Given the description of an element on the screen output the (x, y) to click on. 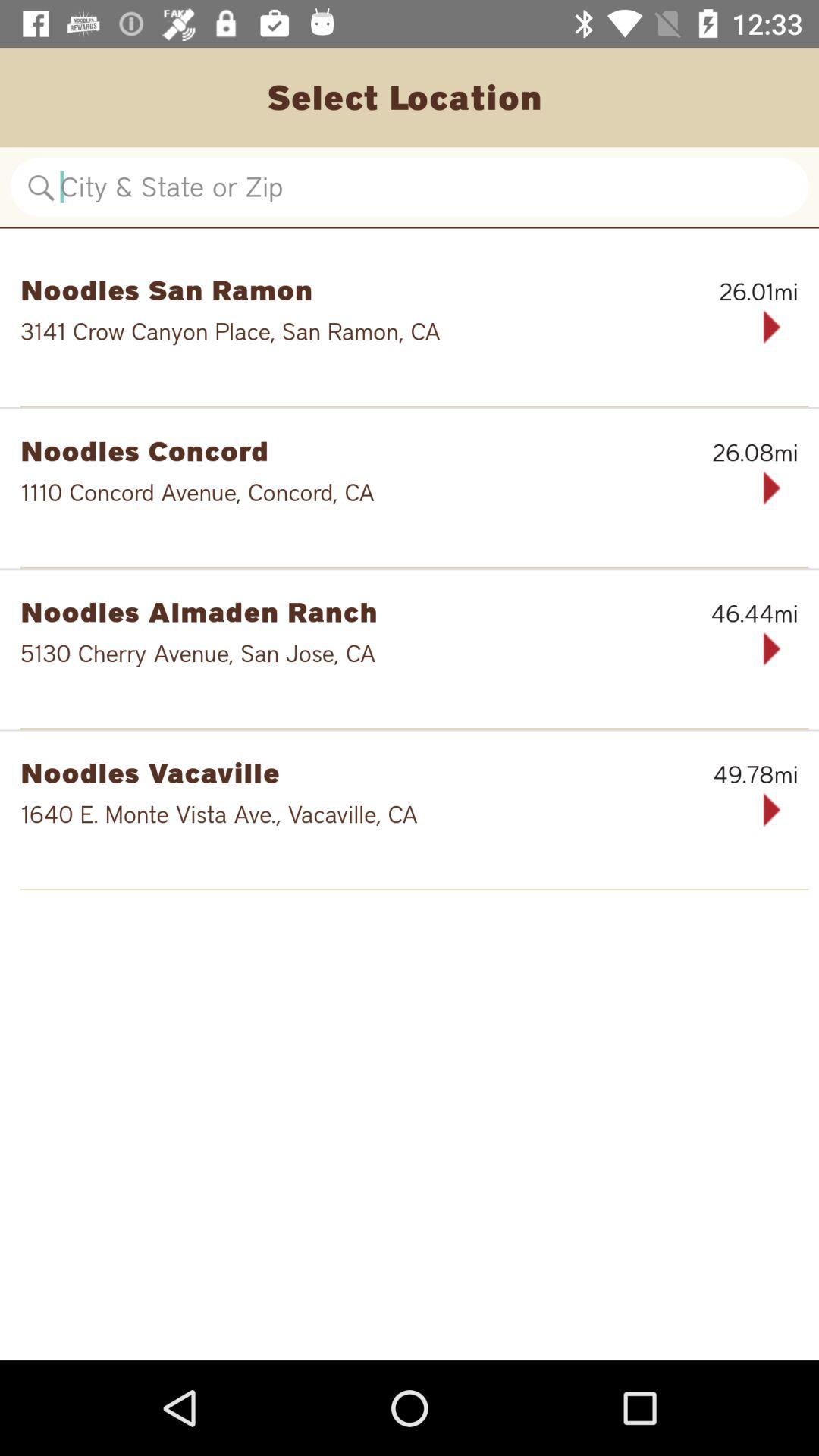
search location (409, 186)
